Given the description of an element on the screen output the (x, y) to click on. 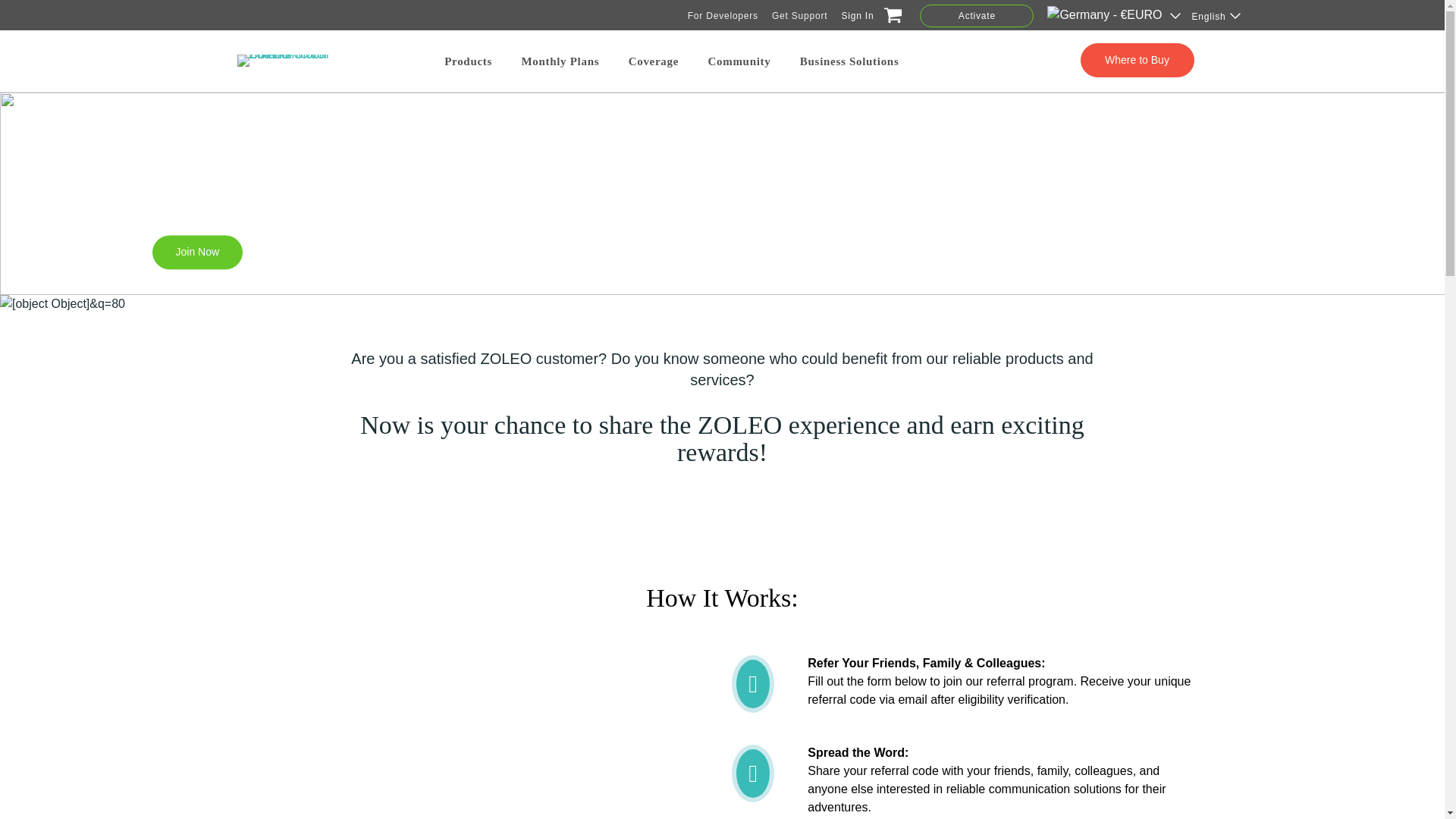
Join Now (197, 252)
For Developers (722, 15)
Activate (976, 15)
ZOLEO Global Satellite Communicator (292, 60)
Cart (889, 18)
Get Support (799, 15)
Sign In (857, 15)
